Given the description of an element on the screen output the (x, y) to click on. 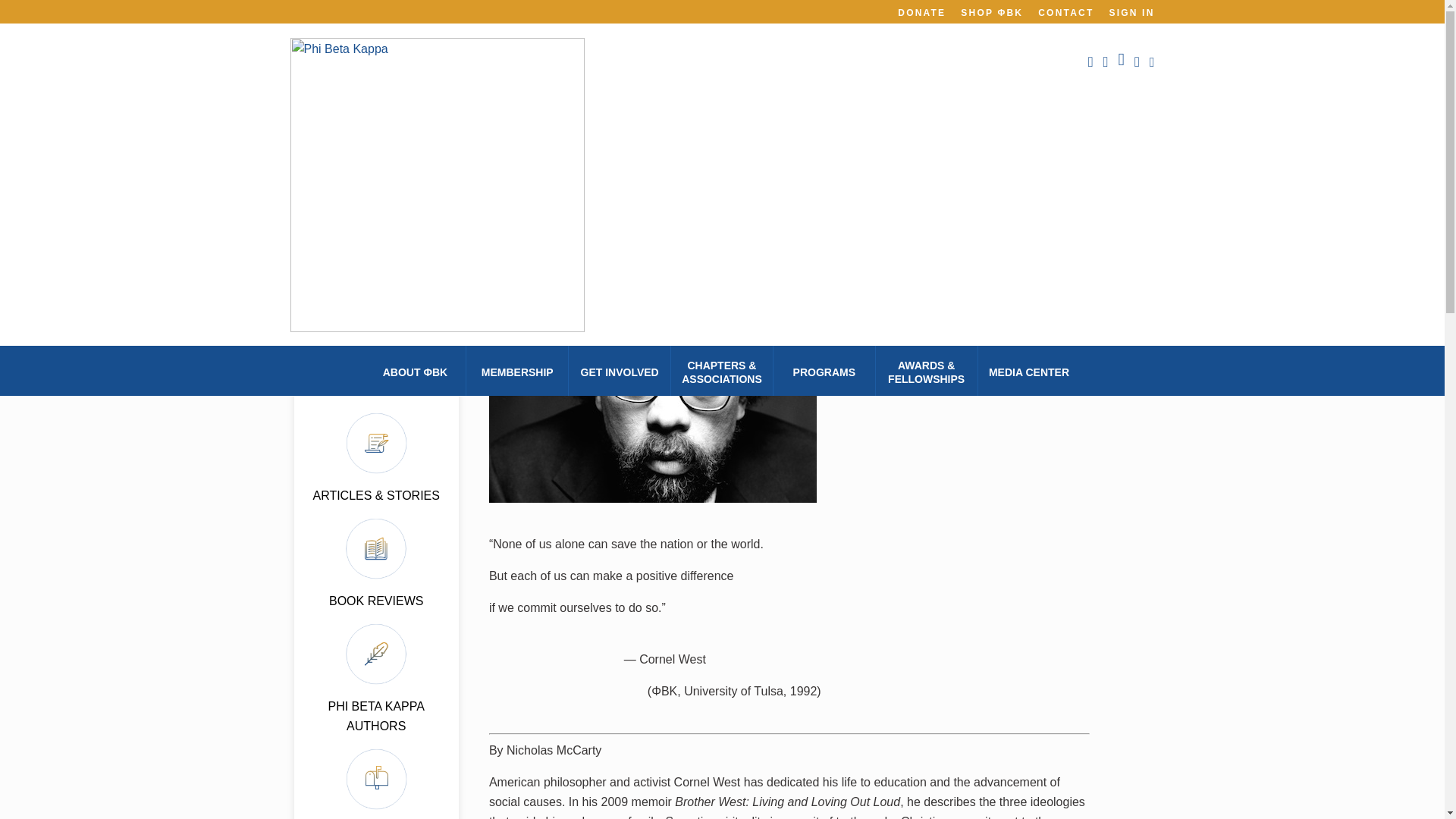
Search (10, 11)
Search (385, 260)
ISSUES (375, 390)
MEMBERSHIP (517, 370)
PHI BETA KAPPA AUTHORS (375, 716)
MEDIA CENTER (1029, 370)
PROGRAMS (824, 370)
SIGN IN (1131, 12)
key-reporter-logo (376, 205)
CONTACT (1065, 12)
BOOK REVIEWS (376, 600)
GET INVOLVED (619, 370)
DONATE (921, 12)
